Given the description of an element on the screen output the (x, y) to click on. 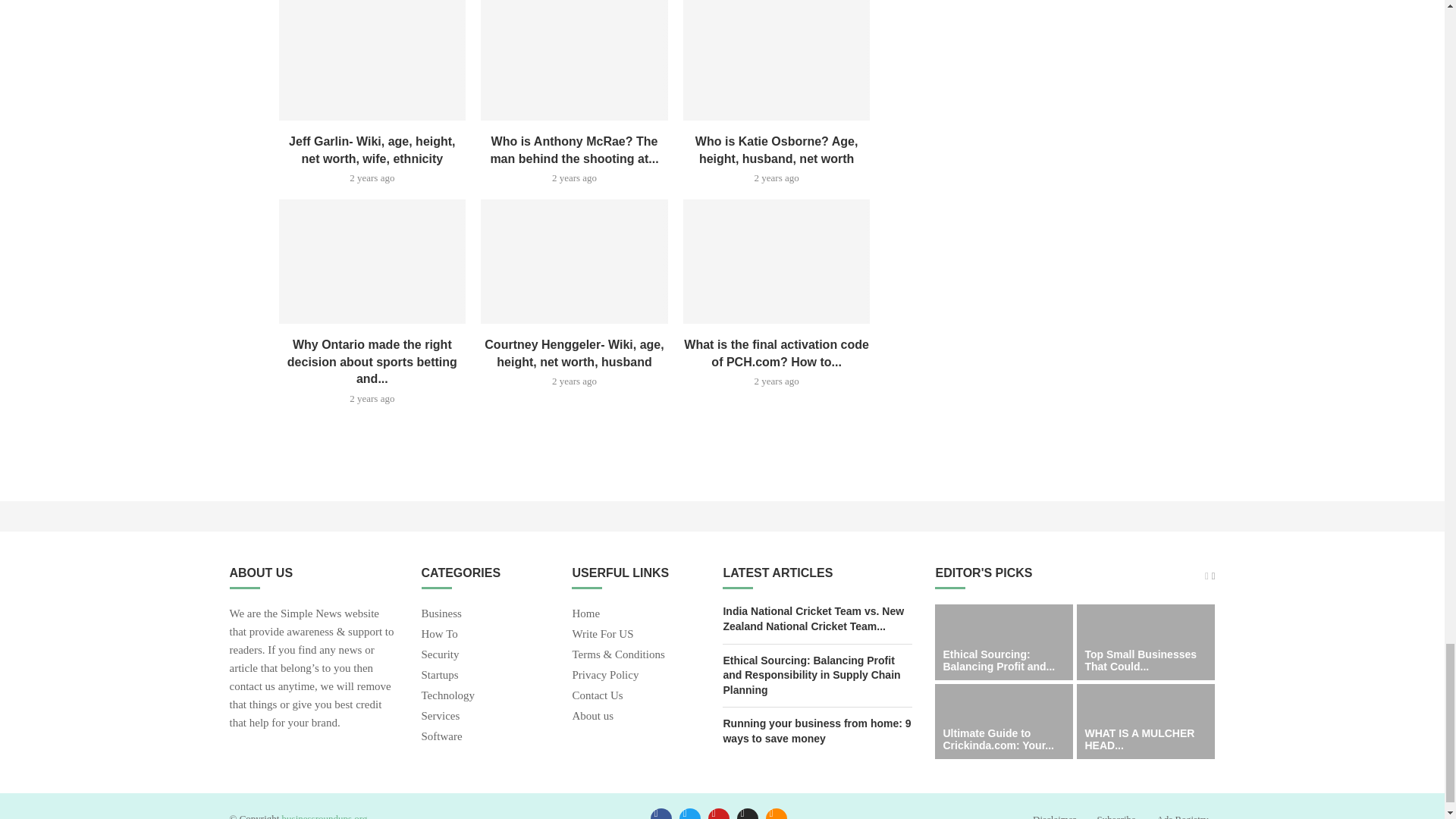
Who is Katie Osborne?  Age, height, husband, net worth (776, 60)
Courtney Henggeler- Wiki, age, height, net worth, husband (574, 261)
Jeff Garlin- Wiki, age, height, net worth, wife, ethnicity (372, 60)
